Given the description of an element on the screen output the (x, y) to click on. 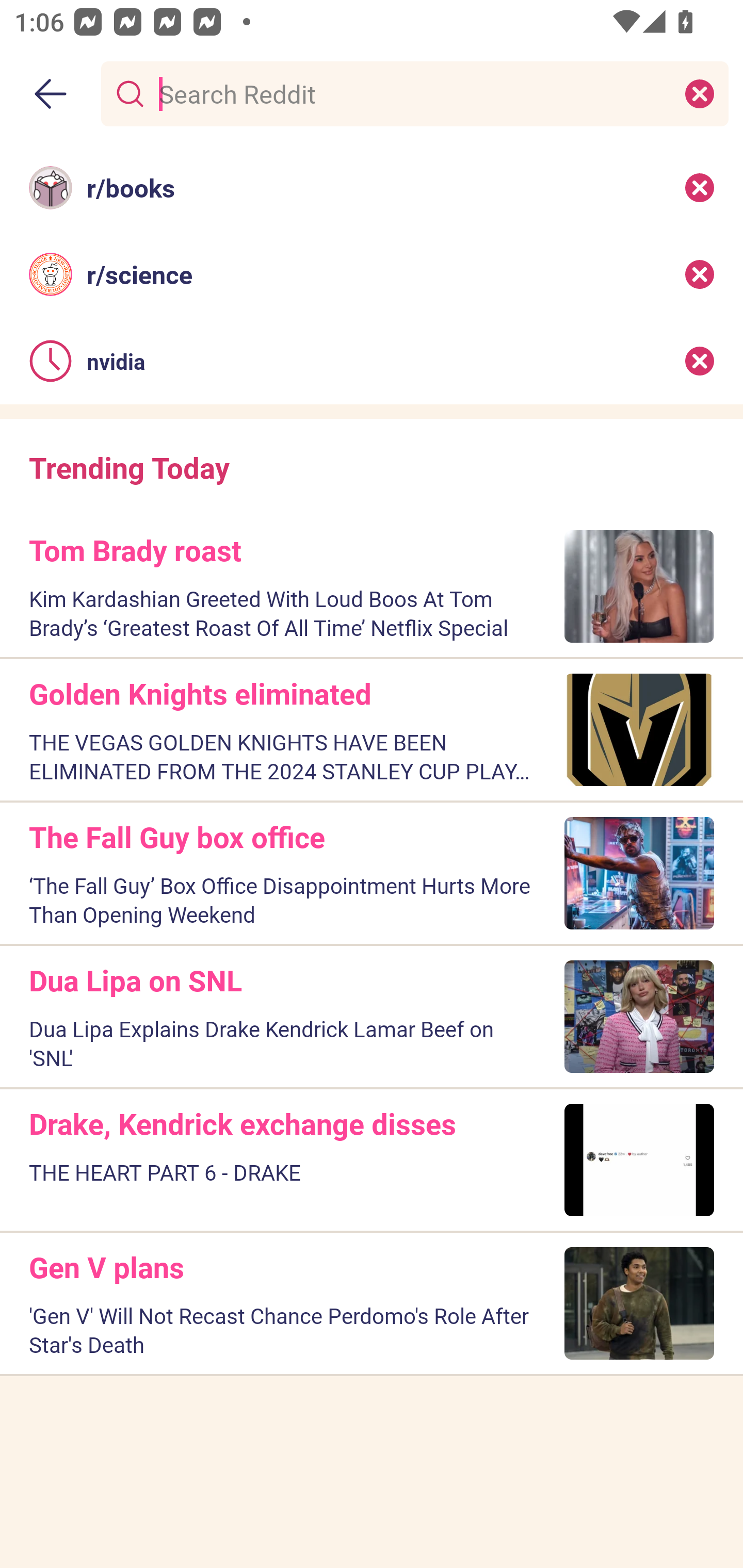
Back (50, 93)
Search Reddit (410, 93)
Clear search (699, 93)
r/books Recent search: r/books Remove (371, 187)
Remove (699, 187)
r/science Recent search: r/science Remove (371, 274)
Remove (699, 274)
nvidia Recent search: nvidia Remove (371, 361)
Remove (699, 361)
